Given the description of an element on the screen output the (x, y) to click on. 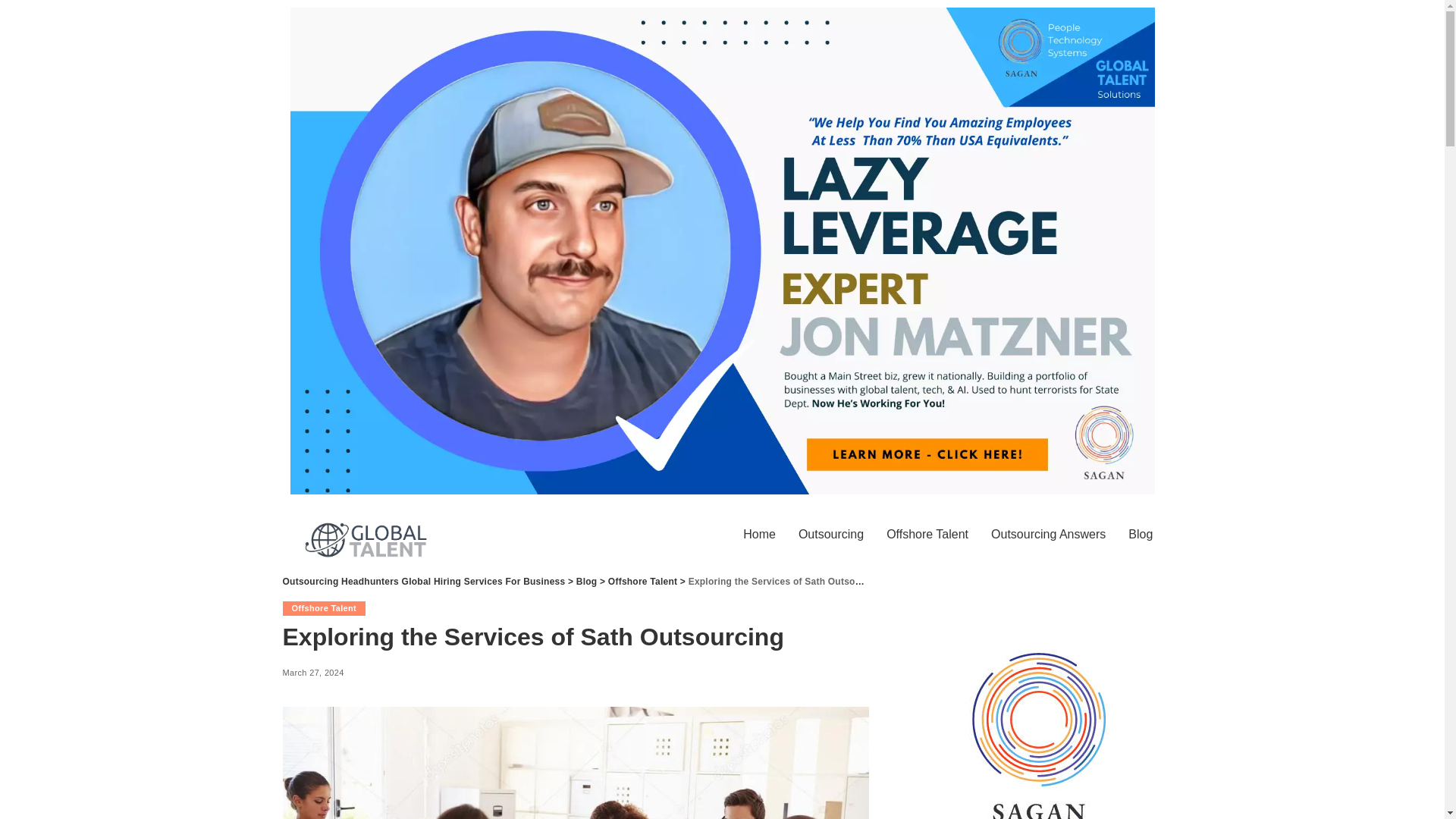
Outsourcing (831, 534)
Blog (586, 581)
Go to Blog. (586, 581)
Go to the Offshore Talent Category archives. (642, 581)
Offshore Talent (927, 534)
Home (759, 534)
Outsourcing Answers (1047, 534)
Offshore Talent (642, 581)
Outsourcing Headhunters Global Hiring Services For Business (423, 581)
2024-03-27T21:23:41-04:00 (312, 672)
Blog (1139, 534)
Offshore Talent (323, 607)
